Given the description of an element on the screen output the (x, y) to click on. 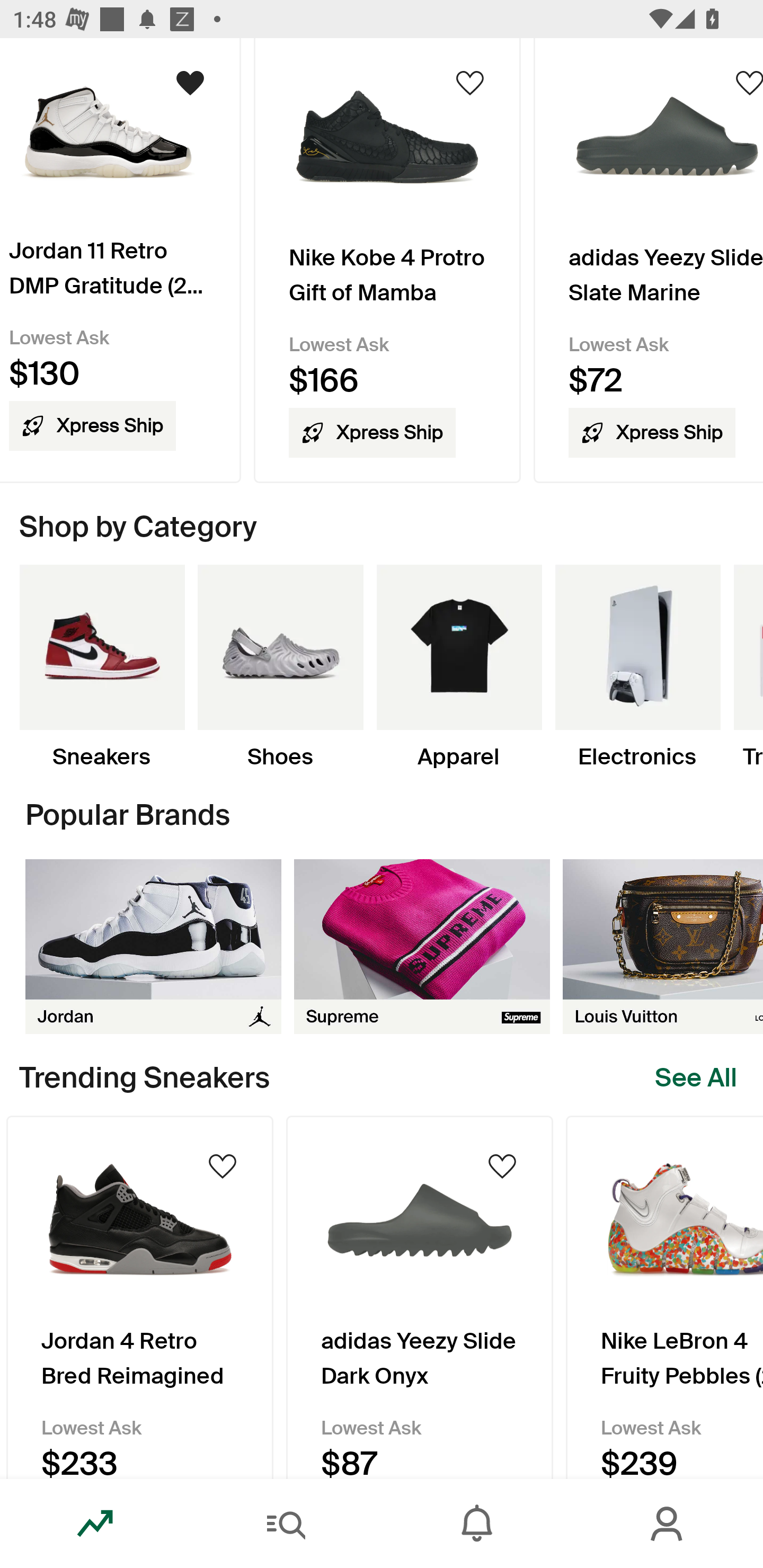
Product Image Sneakers (101, 667)
Product Image Shoes (280, 667)
Product Image Apparel (458, 667)
Product Image Electronics (637, 667)
jordan.jpg (153, 946)
supreme.jpg (421, 946)
lv.jpg (663, 946)
See All (695, 1077)
Search (285, 1523)
Inbox (476, 1523)
Account (667, 1523)
